Given the description of an element on the screen output the (x, y) to click on. 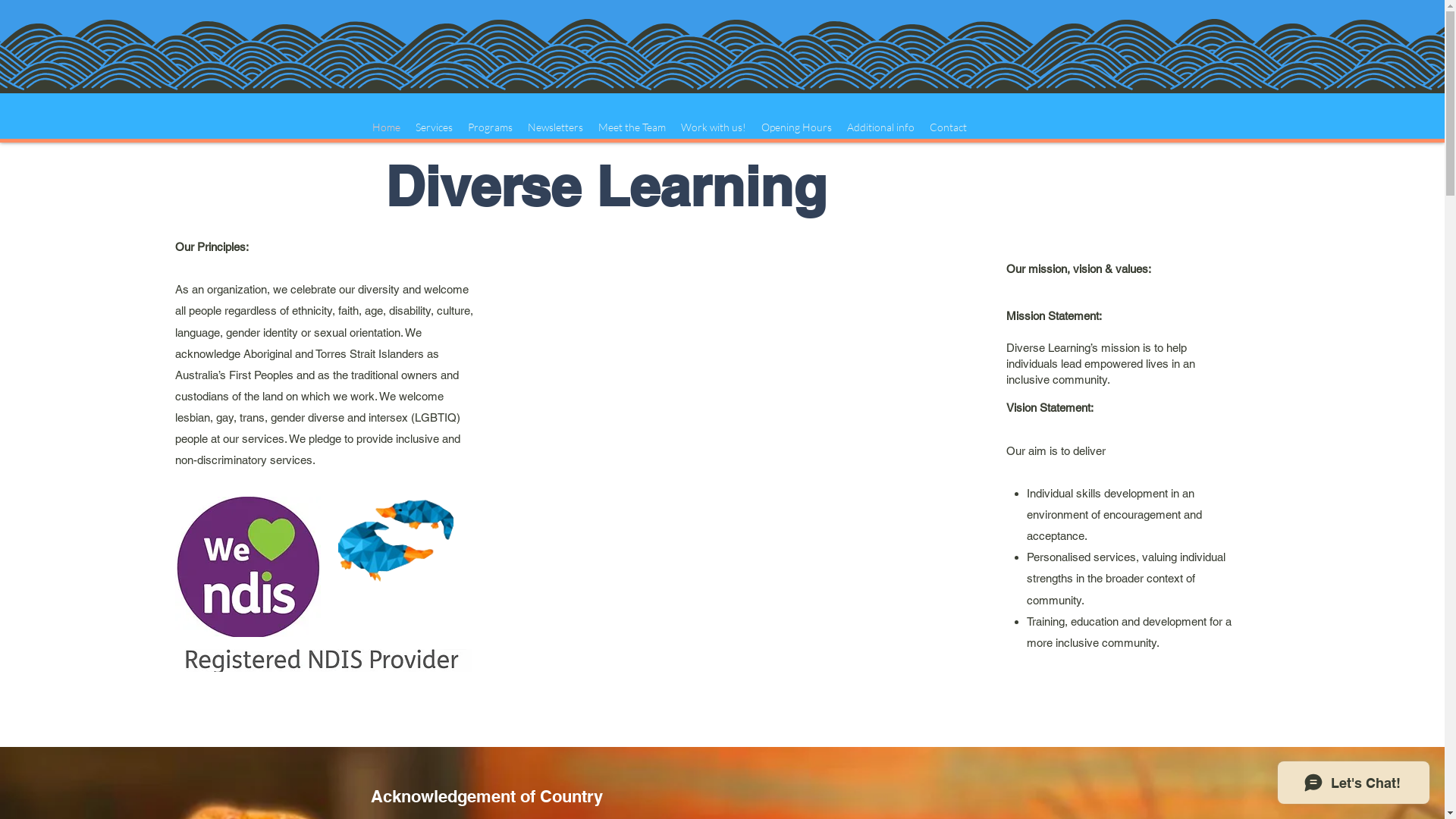
Additional info Element type: text (880, 127)
Opening Hours Element type: text (796, 127)
Contact Element type: text (948, 127)
Work with us! Element type: text (713, 127)
Services Element type: text (433, 127)
Meet the Team Element type: text (631, 127)
Home Element type: text (385, 127)
Newsletters Element type: text (555, 127)
Programs Element type: text (490, 127)
